Given the description of an element on the screen output the (x, y) to click on. 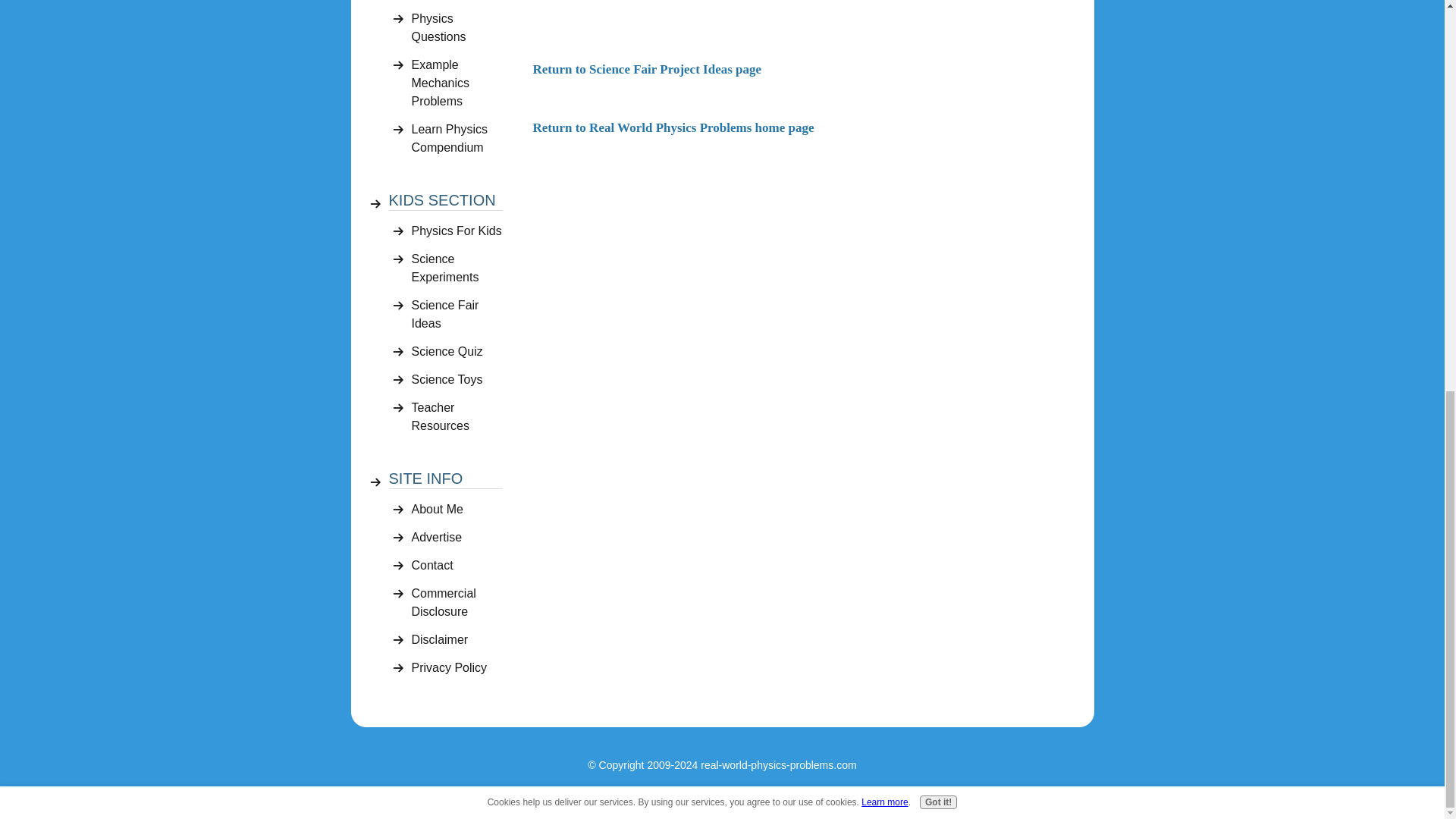
Learn more (884, 54)
About Me (456, 509)
Physics For Kids (456, 231)
Learn Physics Compendium (456, 138)
Return to Science Fair Project Ideas page (646, 69)
Science Experiments (456, 268)
Disclaimer (456, 639)
Teacher Resources (456, 416)
Science Fair Ideas (456, 314)
Contact (456, 565)
Privacy Policy (456, 667)
Science Toys (456, 379)
Science Quiz (456, 351)
Advertise (456, 537)
Commercial Disclosure (456, 602)
